Given the description of an element on the screen output the (x, y) to click on. 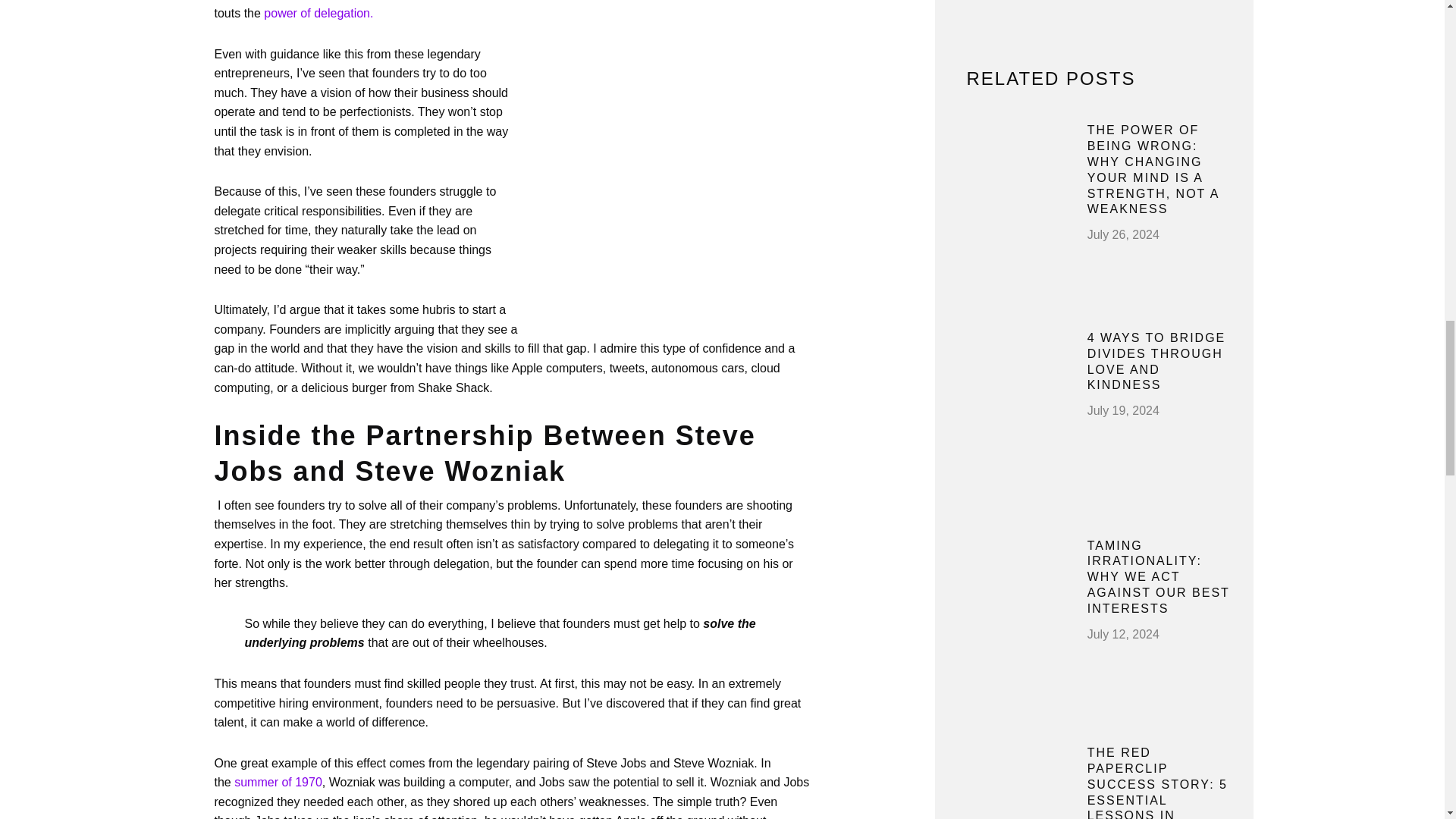
summer of 1970 (277, 781)
power of delegation. (317, 12)
Why You Should Hire Your Weakness As Soon As You Can 1 (666, 191)
the power of delegation (317, 12)
Success of Apple (277, 781)
